Given the description of an element on the screen output the (x, y) to click on. 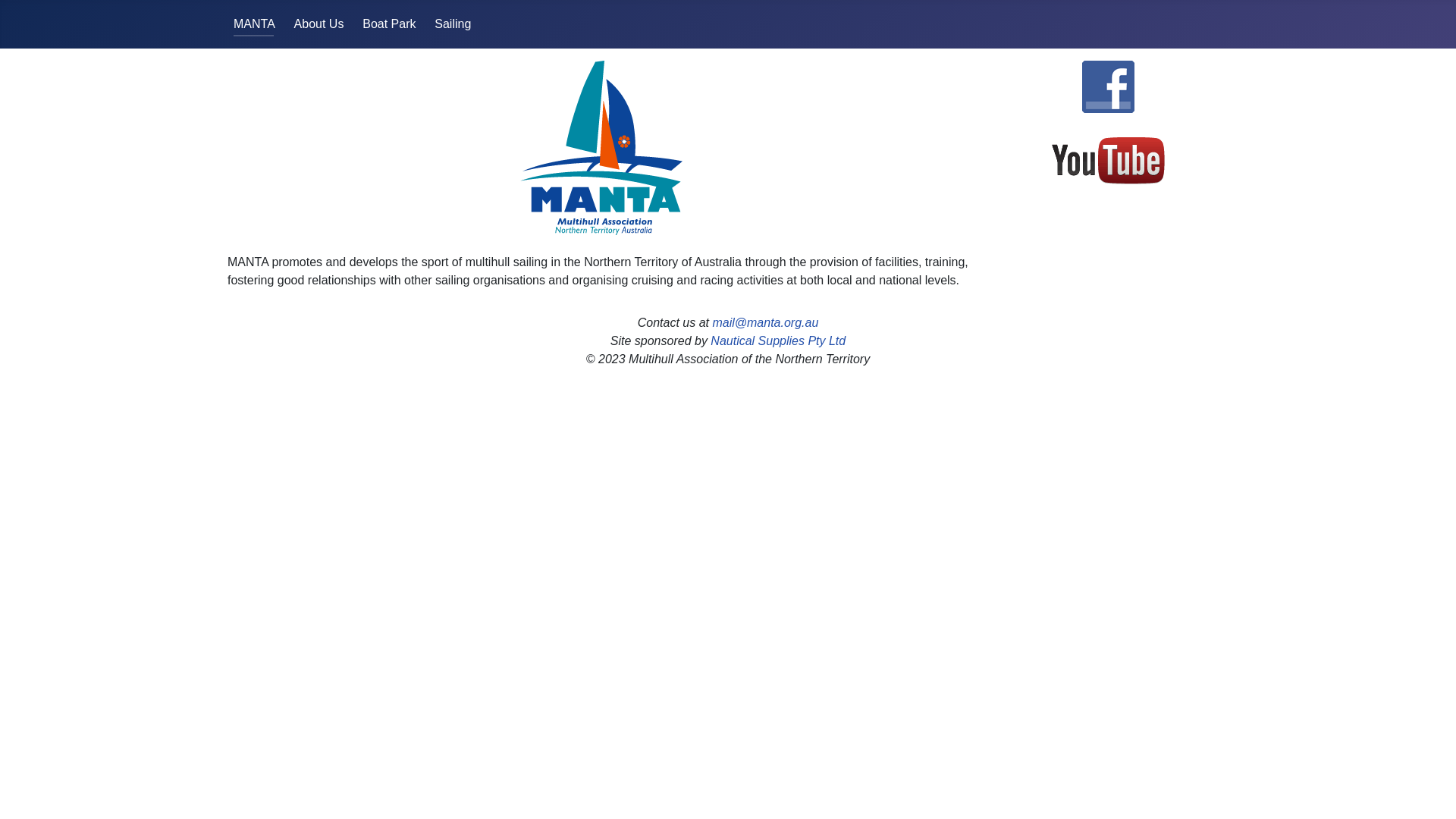
mail@manta.org.au Element type: text (765, 322)
Boat Park Element type: text (388, 23)
MANTA Element type: text (254, 23)
Nautical Supplies Pty Ltd Element type: text (777, 340)
Sailing Element type: text (452, 23)
About Us Element type: text (319, 23)
